Given the description of an element on the screen output the (x, y) to click on. 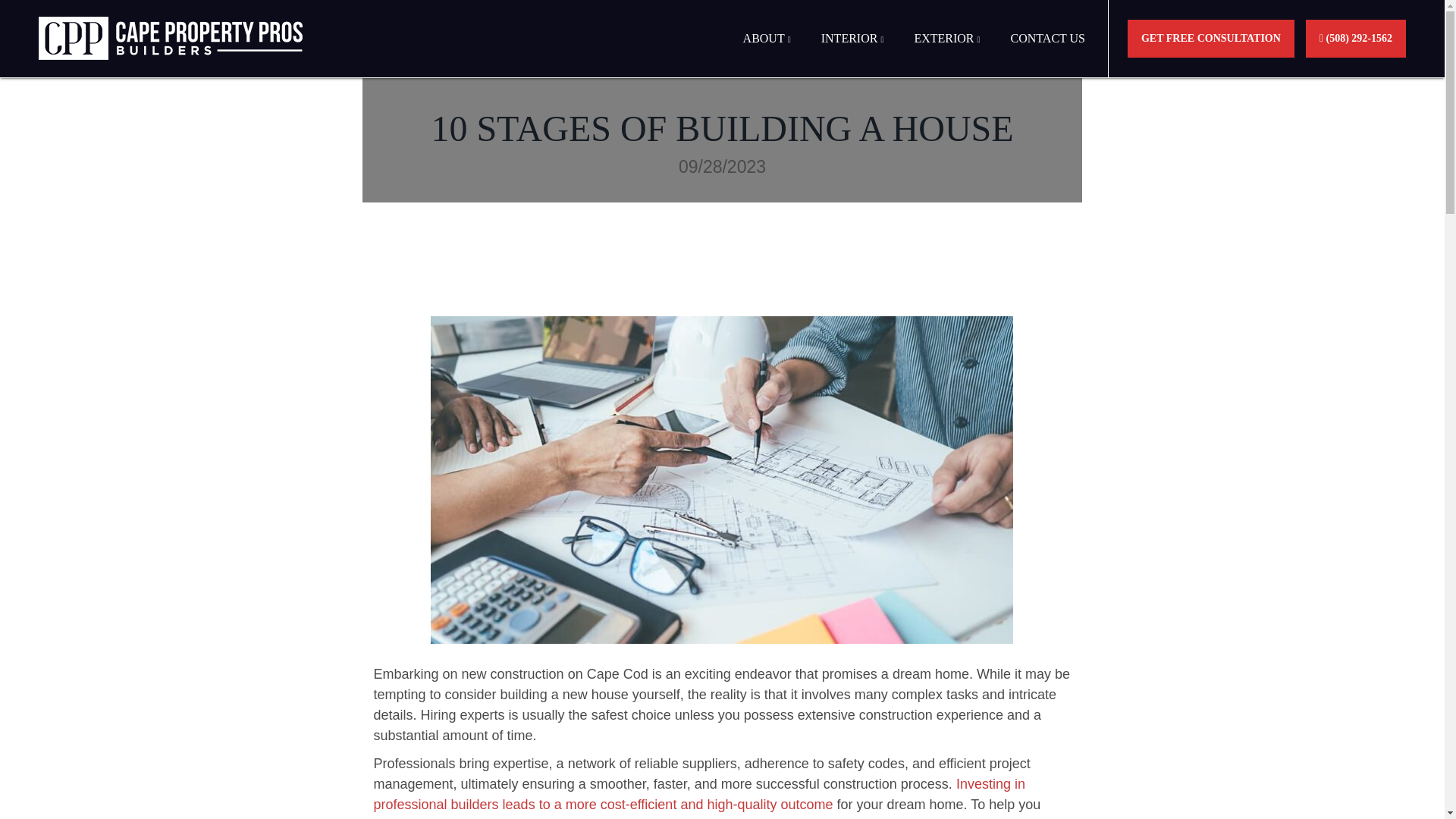
EXTERIOR (946, 52)
INTERIOR (852, 52)
CPP Home Building and Remodeling (170, 38)
Exterior (946, 52)
About (766, 52)
ABOUT (766, 52)
Interior (852, 52)
CONTACT US (1048, 52)
GET FREE CONSULTATION (1210, 38)
